Given the description of an element on the screen output the (x, y) to click on. 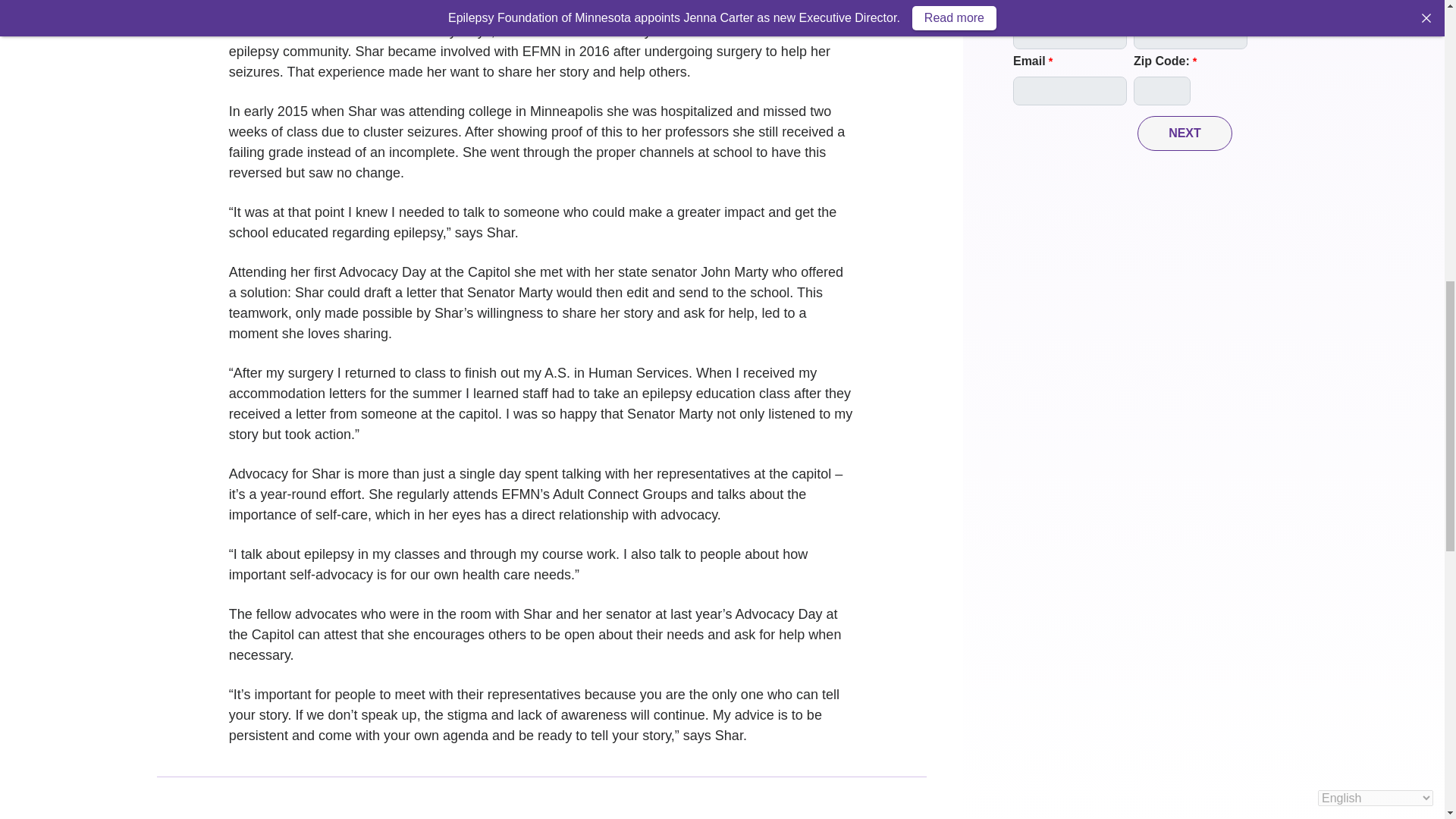
First Name (1069, 34)
Zip Code: (1162, 90)
Next (1184, 133)
Last Name (1190, 34)
Email (1069, 90)
